Given the description of an element on the screen output the (x, y) to click on. 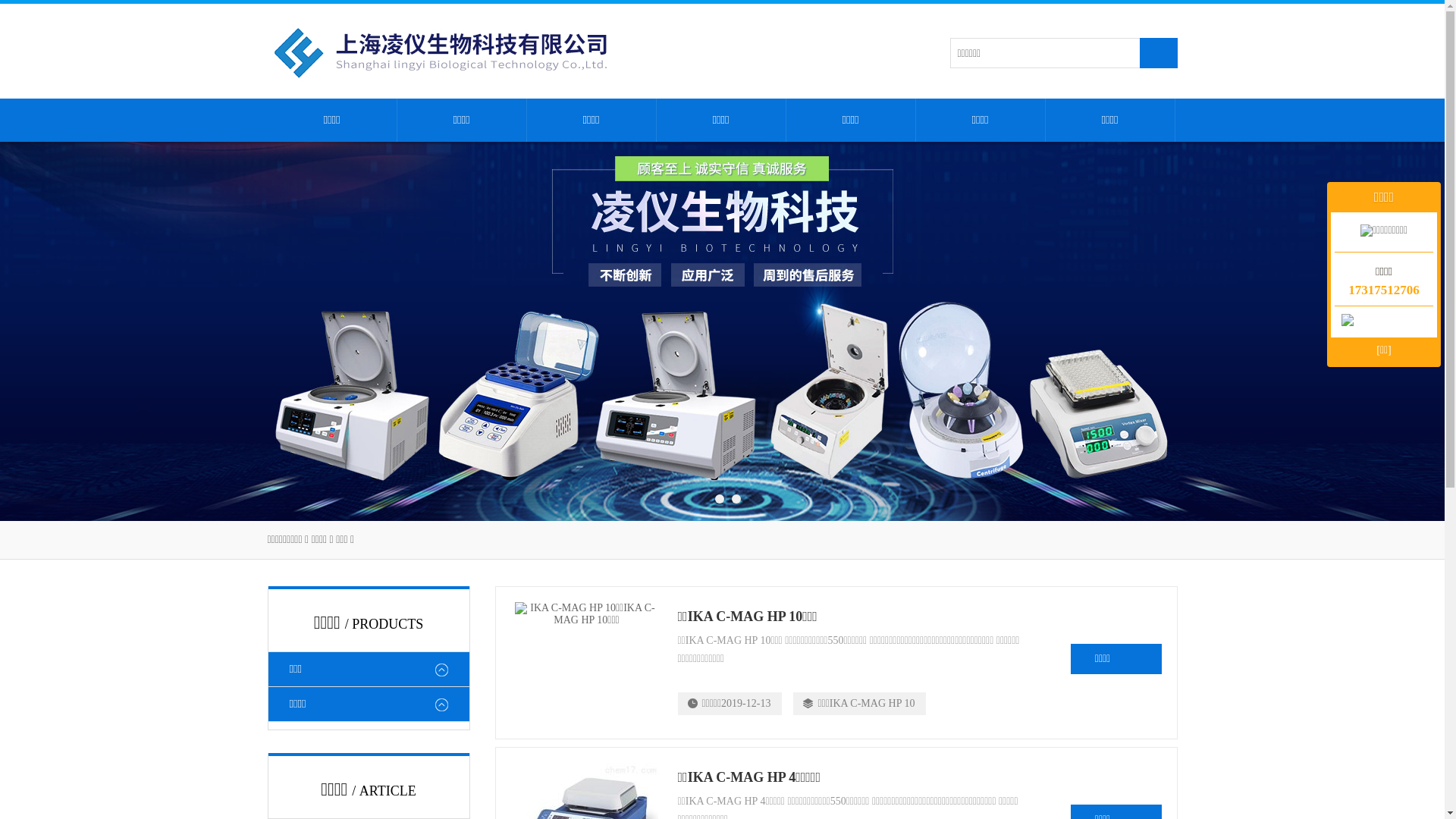
  Element type: text (1157, 52)
